Given the description of an element on the screen output the (x, y) to click on. 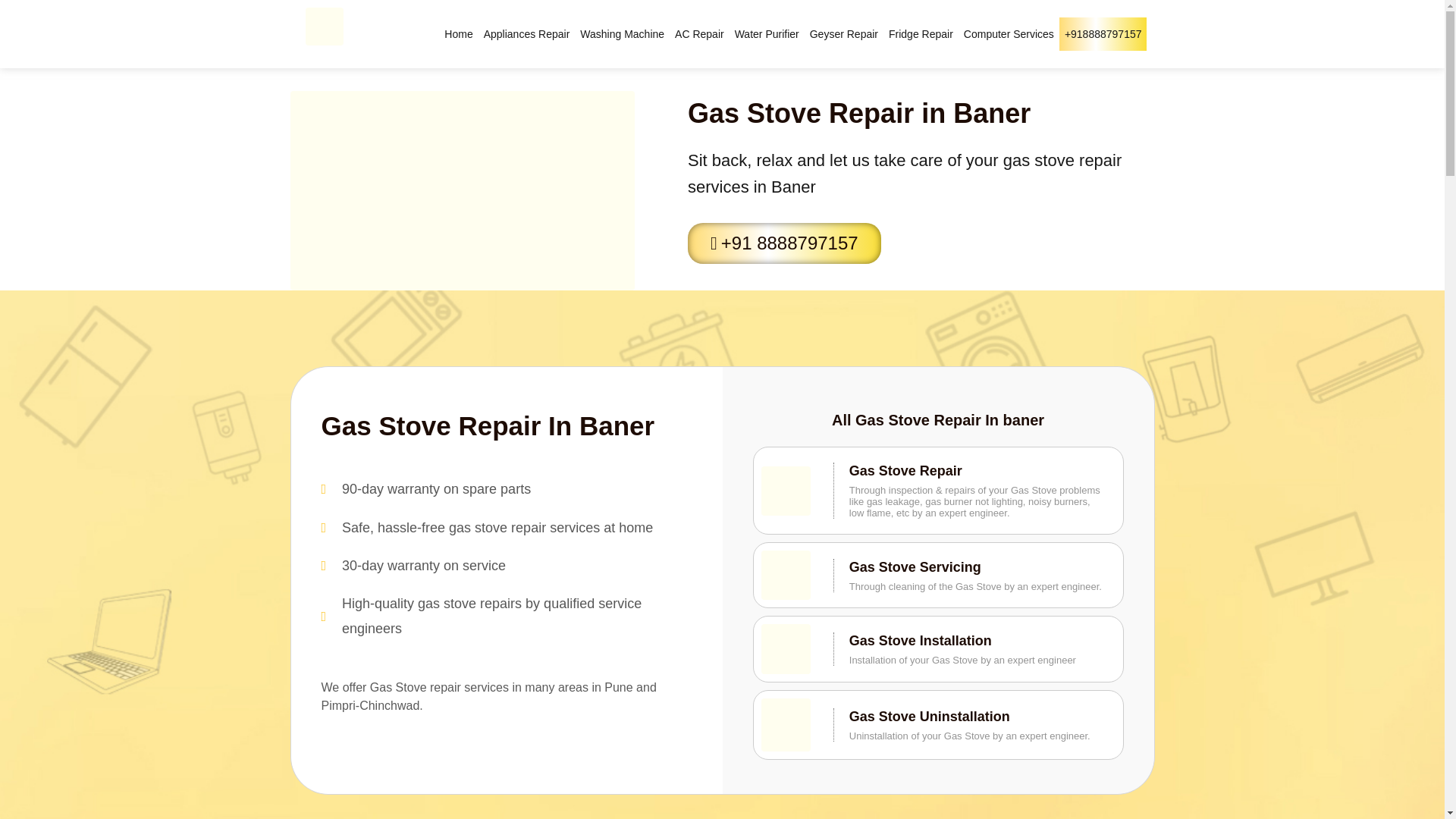
Appliances Repair (527, 33)
AC Repair (699, 33)
Washing Machine (622, 33)
Home (458, 33)
Fridge Repair (920, 33)
Computer Services (1008, 33)
Geyser Repair (844, 33)
Water Purifier (767, 33)
